Given the description of an element on the screen output the (x, y) to click on. 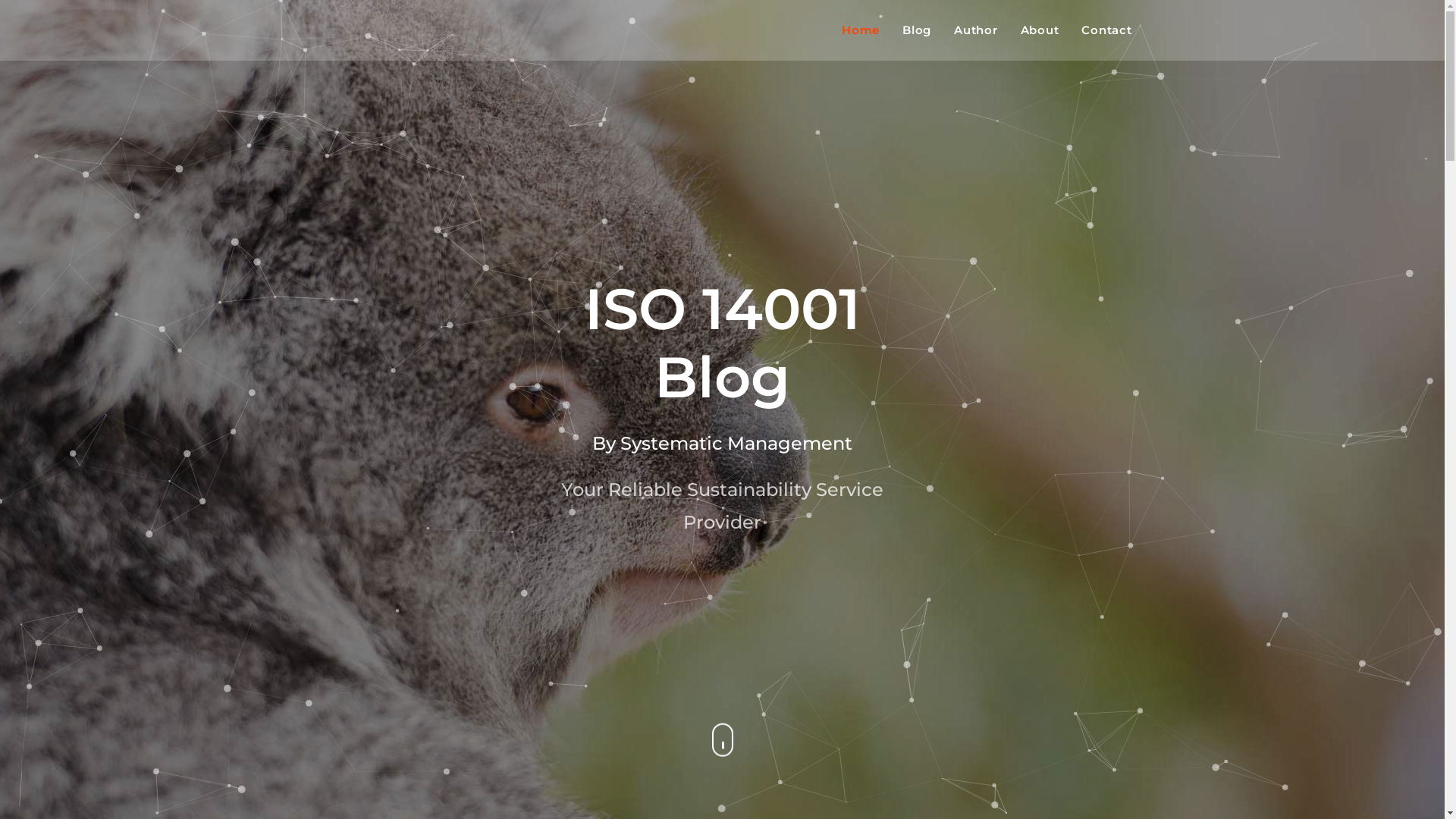
Blog Element type: text (916, 30)
Contact Element type: text (1106, 30)
Author Element type: text (975, 30)
Home Element type: text (860, 30)
About Element type: text (1039, 30)
